Given the description of an element on the screen output the (x, y) to click on. 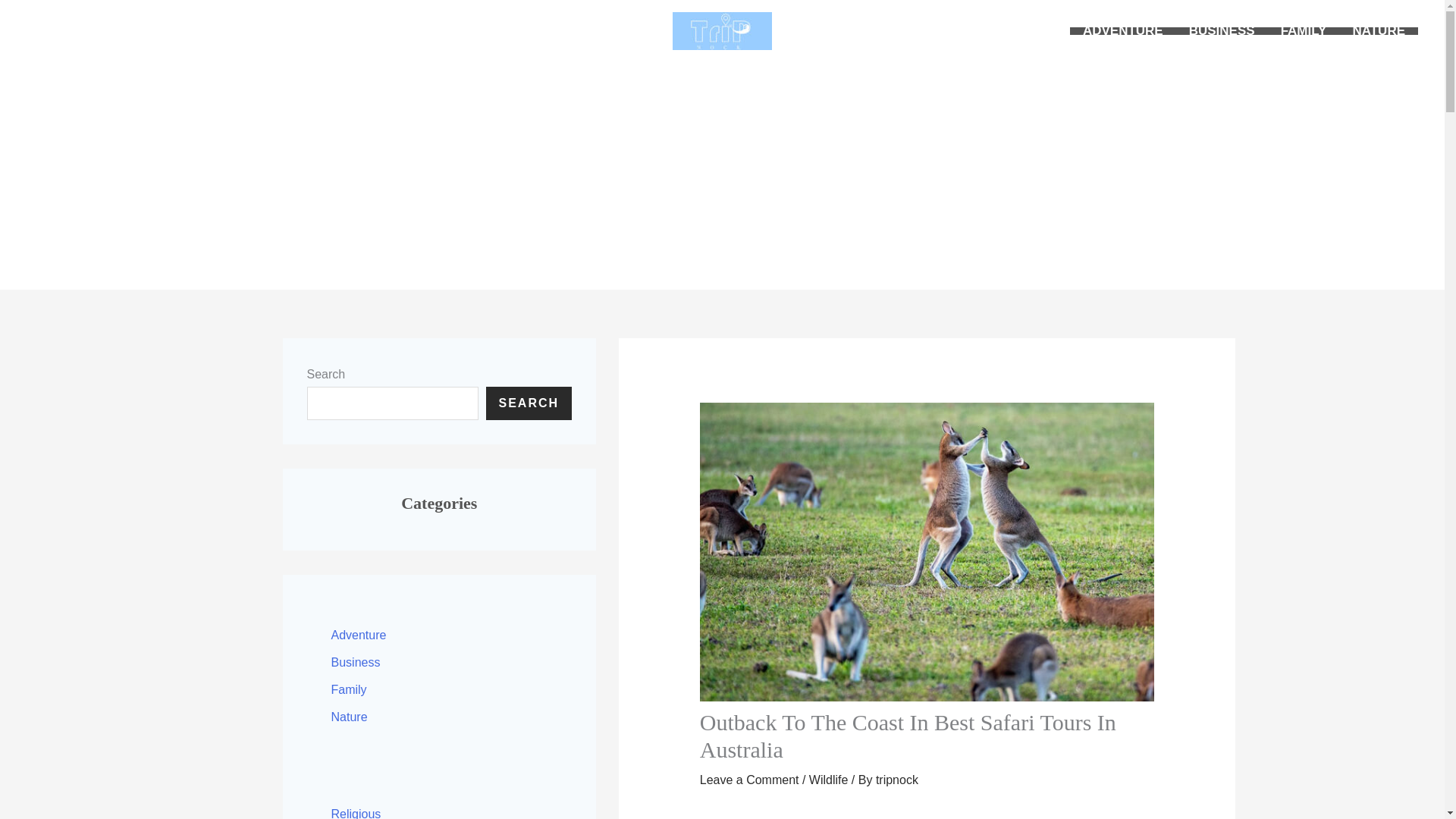
Leave a Comment (749, 779)
Business (355, 662)
SOLO (539, 31)
WILDLIFE (614, 31)
Nature (348, 716)
SEARCH (528, 403)
Family (348, 689)
ADVENTURE (1123, 31)
NATURE (1378, 31)
Adventure (357, 634)
